Given the description of an element on the screen output the (x, y) to click on. 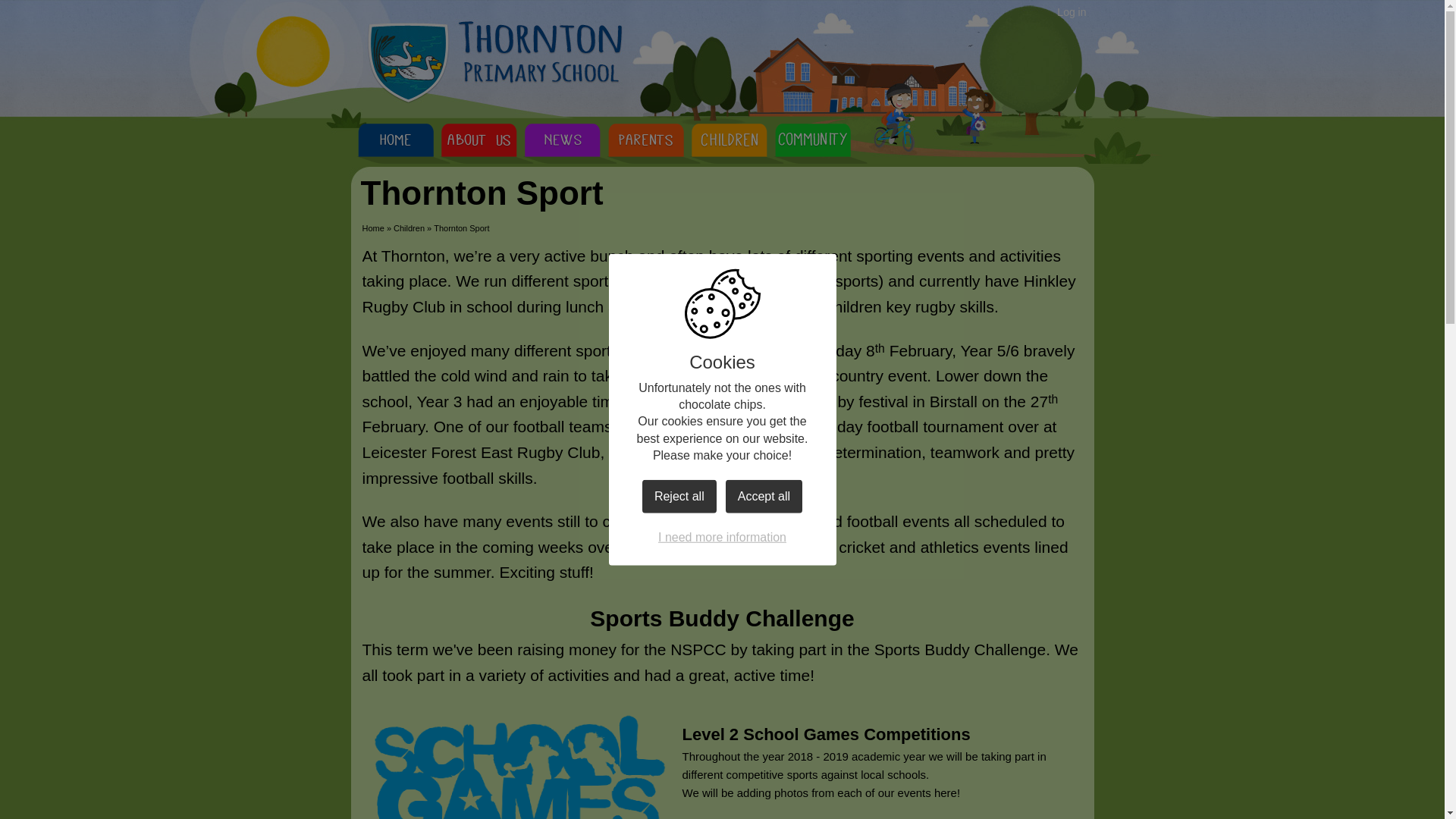
About Us (477, 145)
Home Page (494, 60)
Home (393, 145)
Children (409, 227)
Thornton Sport (461, 227)
Home Page (494, 60)
Home (373, 227)
Log in (1071, 12)
